Given the description of an element on the screen output the (x, y) to click on. 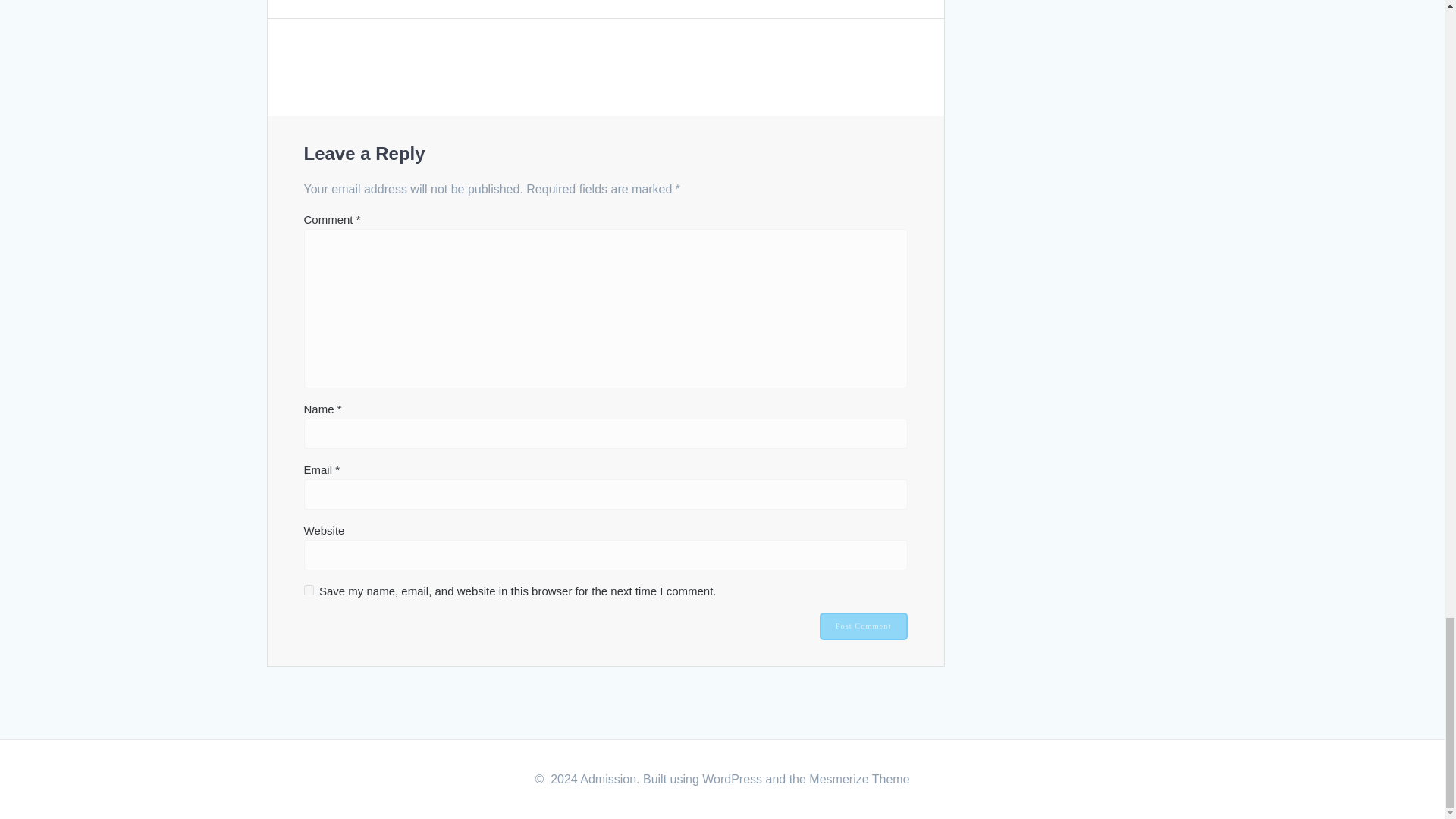
yes (307, 590)
Post Comment (863, 625)
